Given the description of an element on the screen output the (x, y) to click on. 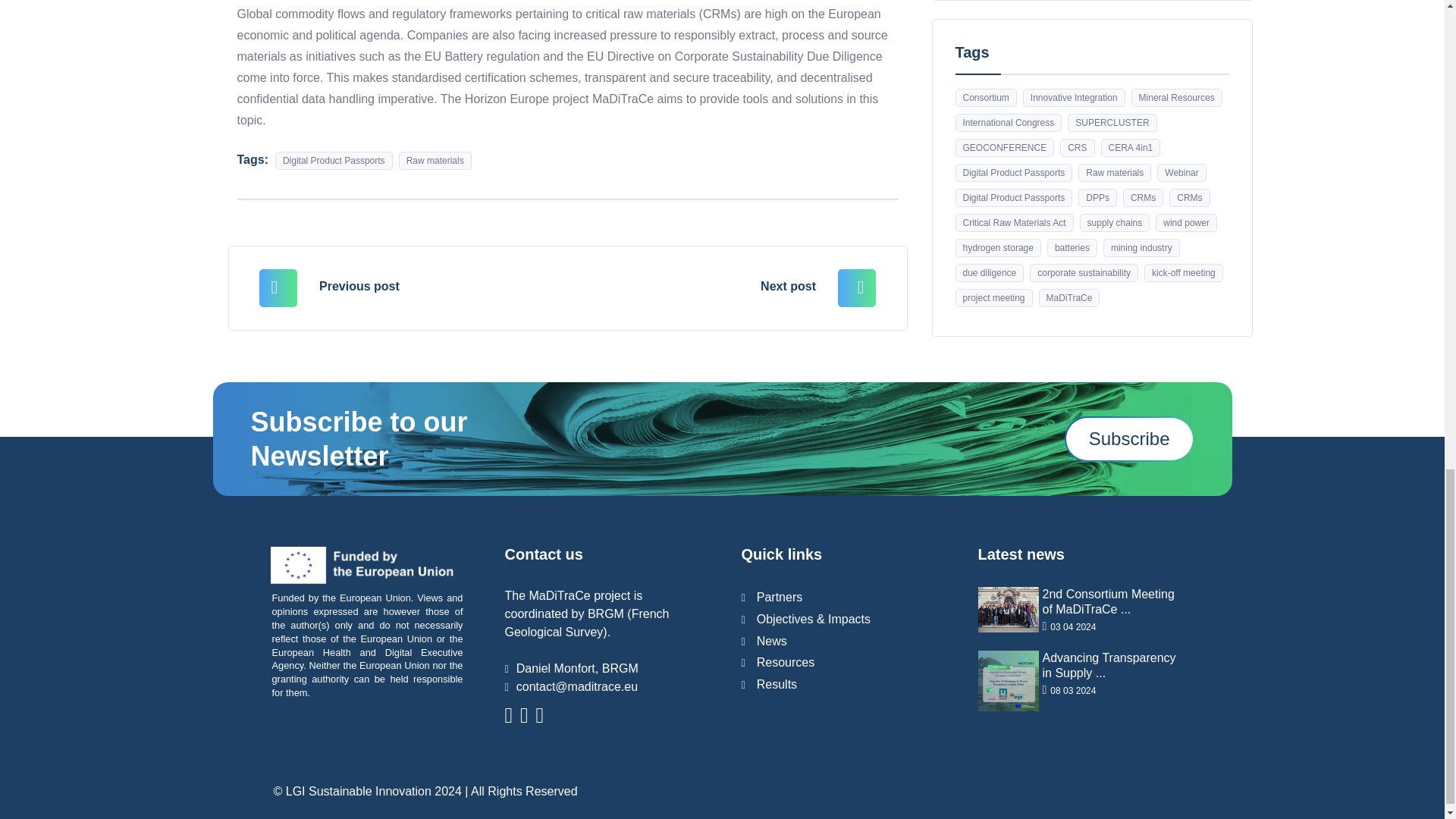
Partners (772, 596)
Previous post (435, 285)
Next post (699, 285)
Results (769, 684)
BRGM (606, 613)
Resources (1077, 611)
Subscribe (778, 662)
News (1128, 438)
